Given the description of an element on the screen output the (x, y) to click on. 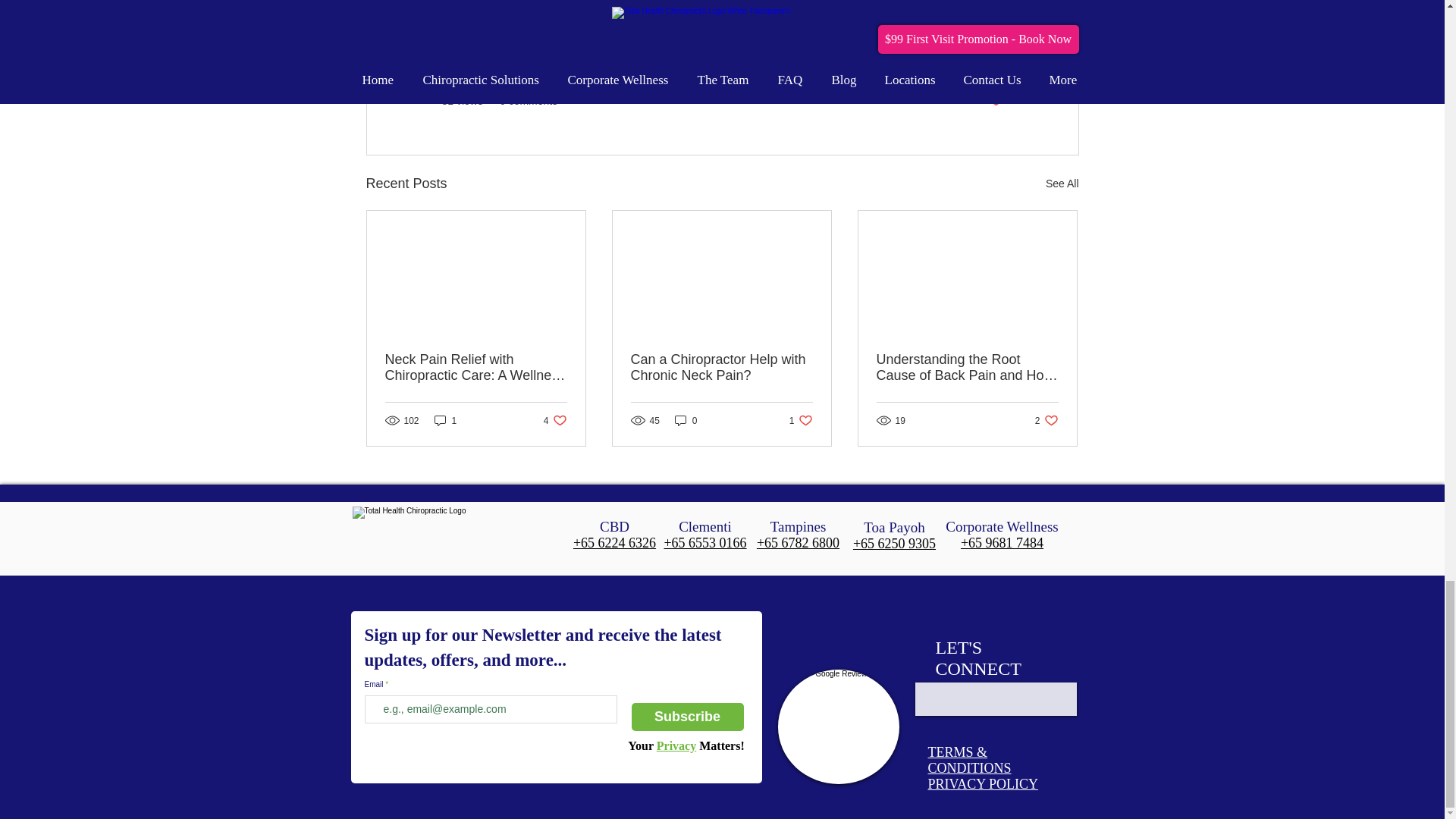
Chiropractor (614, 4)
Chiropractic Singapore (505, 4)
Pinched Nerve (804, 4)
nervous system (706, 4)
